Given the description of an element on the screen output the (x, y) to click on. 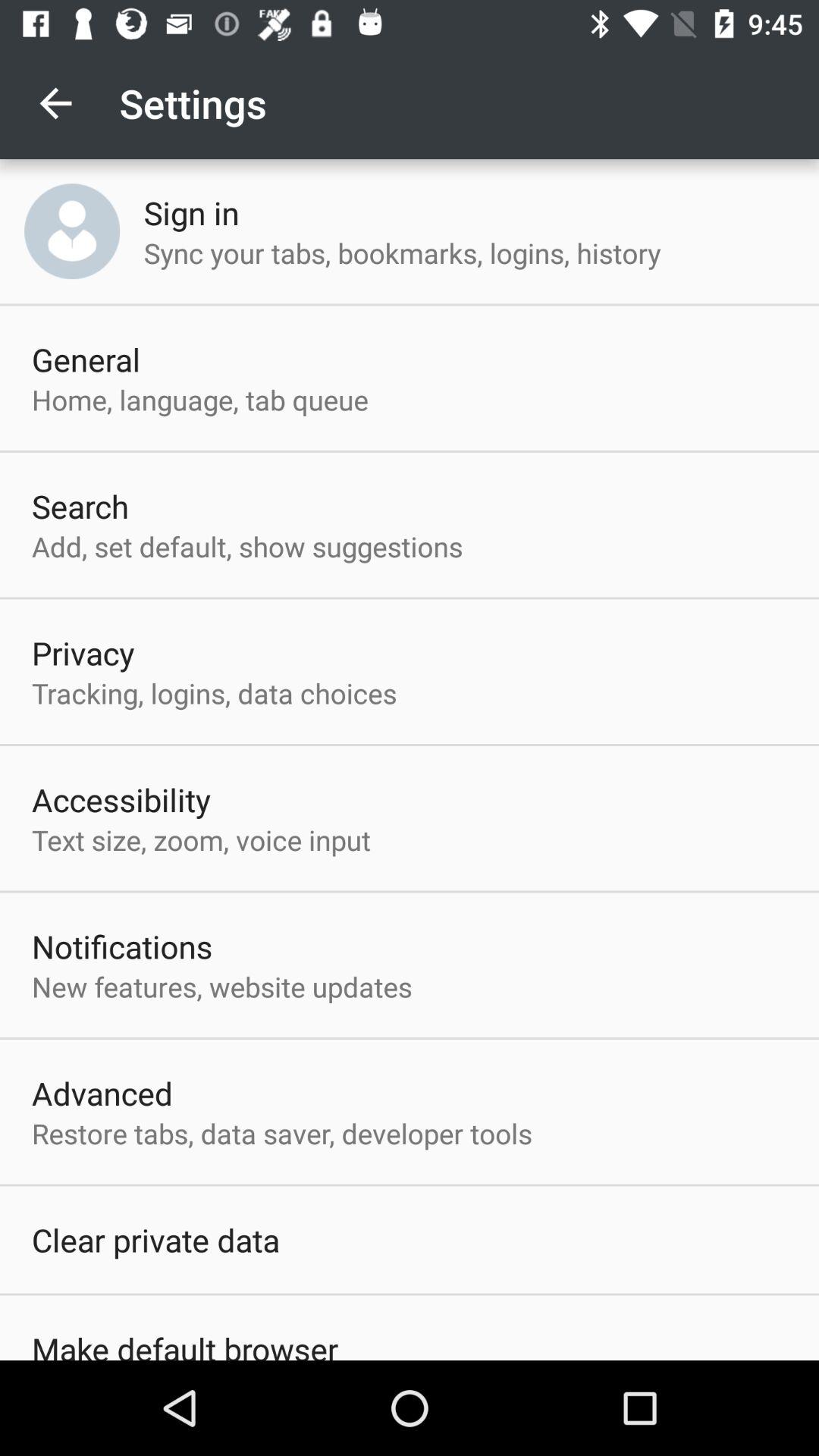
select the icon above the text size zoom item (121, 799)
